Given the description of an element on the screen output the (x, y) to click on. 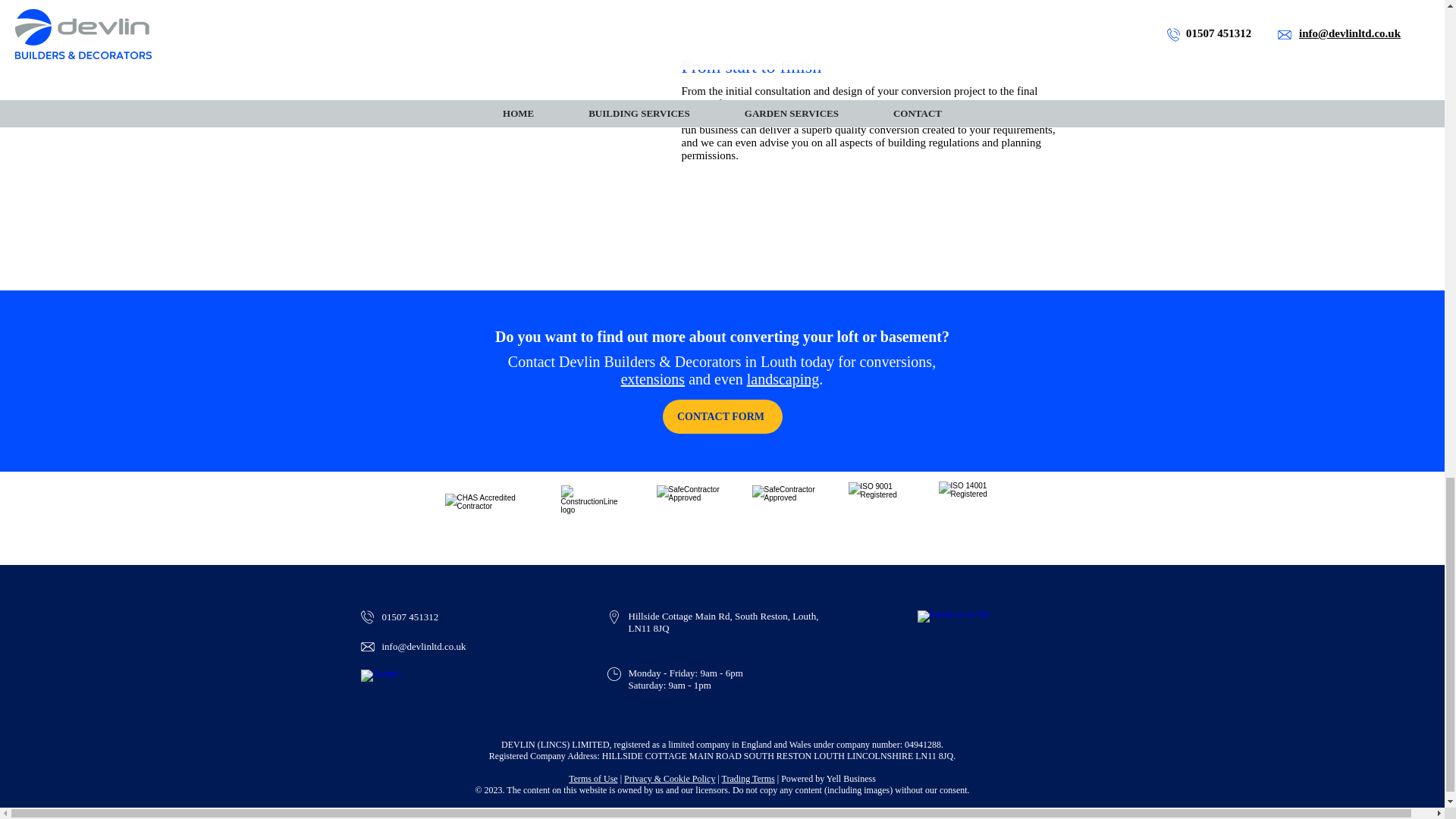
landscaping (782, 379)
Terms of Use (593, 778)
CONTACT FORM (722, 416)
extensions (652, 379)
Trading Terms (748, 778)
